Given the description of an element on the screen output the (x, y) to click on. 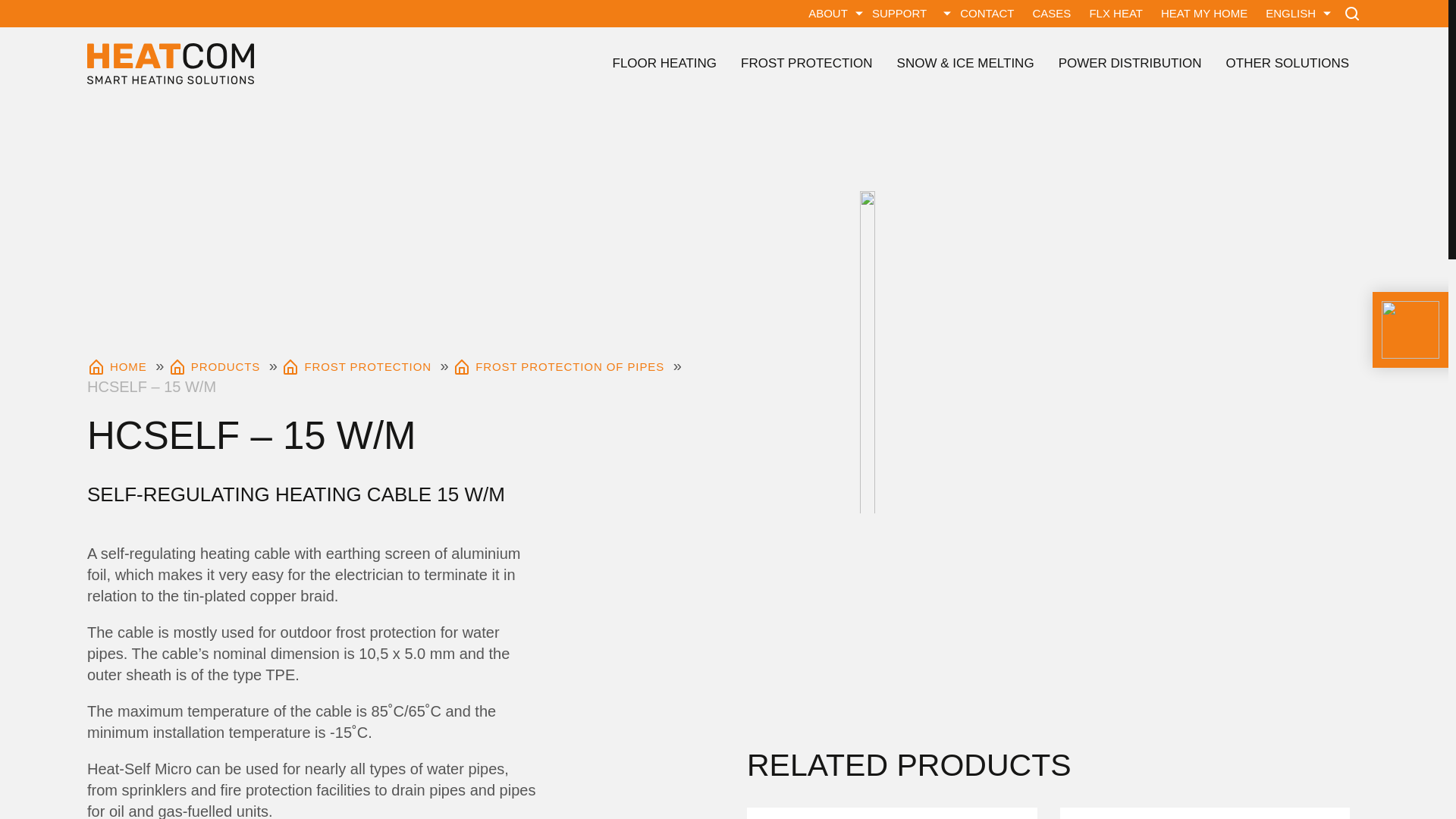
SUPPORT (899, 13)
ABOUT (827, 13)
English (1286, 13)
ENGLISH (1286, 13)
HEAT MY HOME (1203, 13)
CONTACT (986, 13)
CASES (1051, 13)
FLX HEAT (1115, 13)
